Given the description of an element on the screen output the (x, y) to click on. 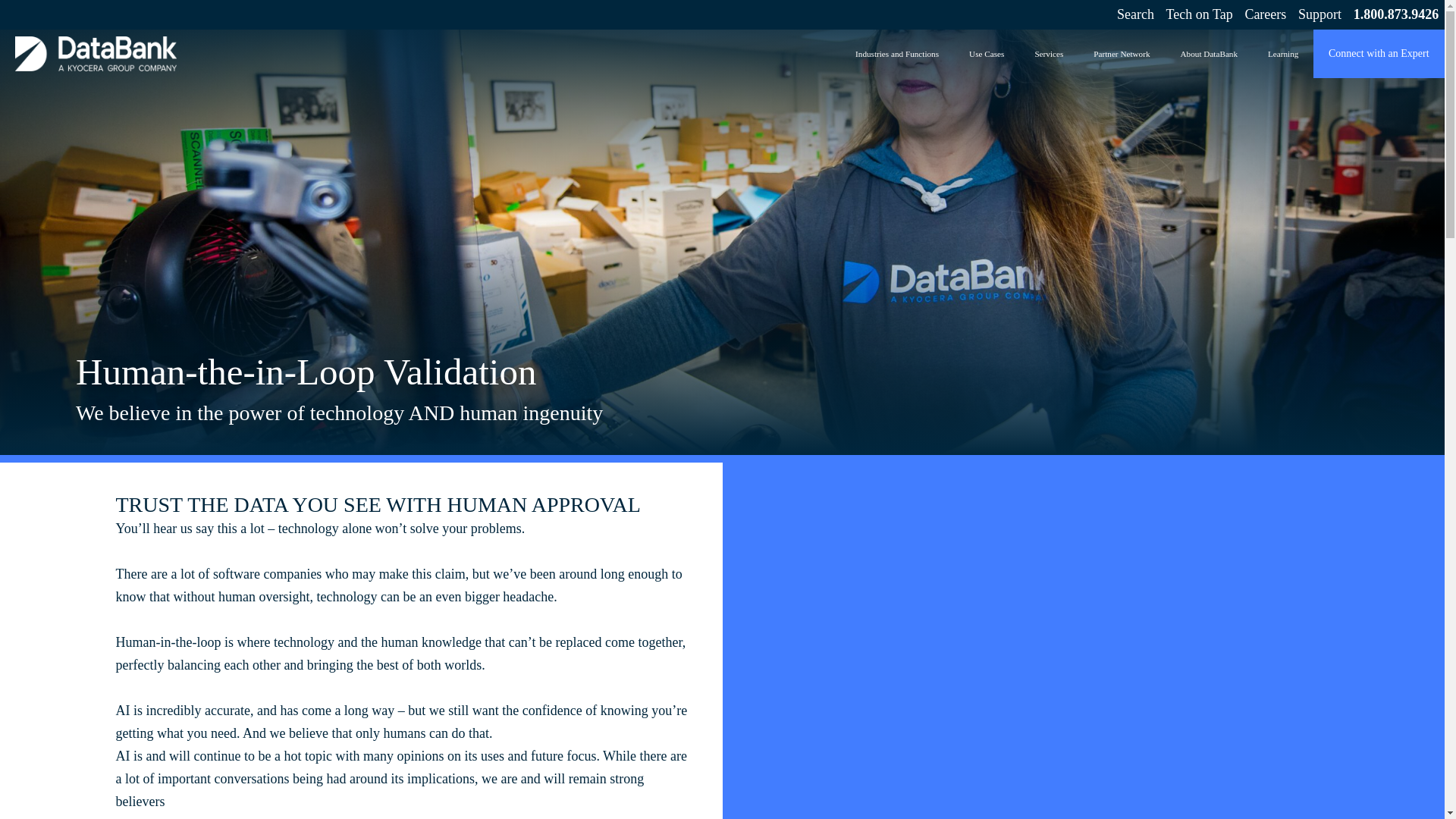
Services (1047, 53)
Careers (1265, 14)
Use Cases (986, 53)
Support (1320, 14)
YouTube video player (964, 626)
Tech on Tap (1199, 14)
Search (1130, 13)
Industries and Functions (897, 53)
